Given the description of an element on the screen output the (x, y) to click on. 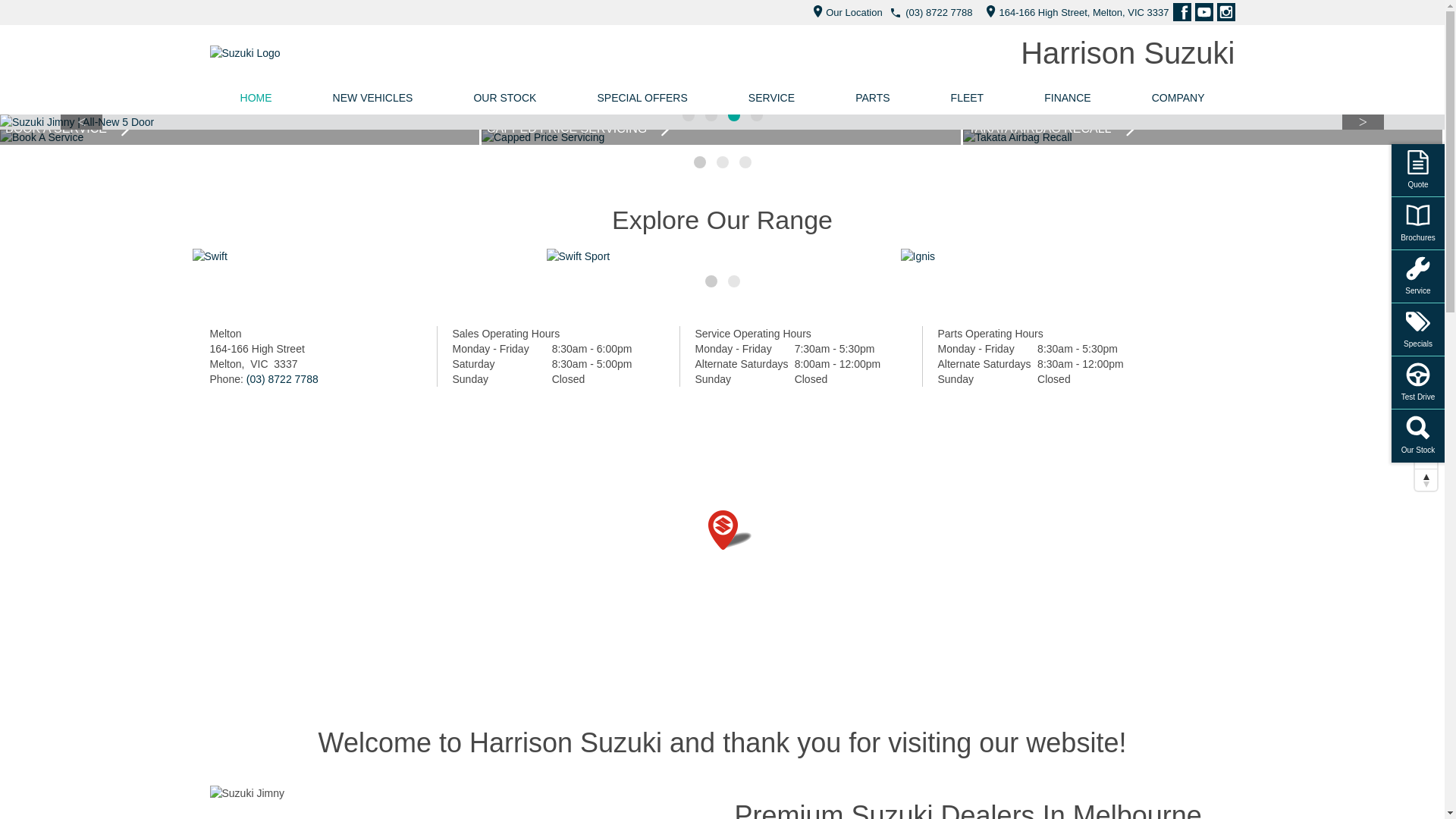
EXPLORE Element type: text (722, 255)
HOME Element type: text (255, 97)
PARTS Element type: text (872, 97)
(03) 8722 7788 Element type: text (938, 12)
SPECIAL OFFERS Element type: text (641, 97)
FLEET Element type: text (967, 97)
FINANCE Element type: text (1067, 97)
EXPLORE Element type: text (368, 255)
SERVICE Element type: text (771, 97)
EXPLORE Element type: text (1076, 255)
COMPANY Element type: text (1178, 97)
BOOK A SERVICE Element type: text (720, 136)
YouTube Element type: text (1204, 12)
Instagram Element type: text (1225, 12)
OUR STOCK Element type: text (504, 97)
NEW VEHICLES Element type: text (372, 97)
164-166 High Street, Melton, VIC 3337 Element type: text (1073, 12)
LATEST OFFERS Element type: text (239, 136)
Reset bearing to north Element type: hover (1426, 479)
Harrison Suzuki Element type: text (1127, 52)
Zoom in Element type: hover (1426, 435)
Our Location Element type: text (843, 12)
Zoom out Element type: hover (1426, 457)
Facebook Element type: text (1181, 12)
CAPPED PRICE SERVICING Element type: text (1202, 136)
(03) 8722 7788 Element type: text (282, 379)
